Given the description of an element on the screen output the (x, y) to click on. 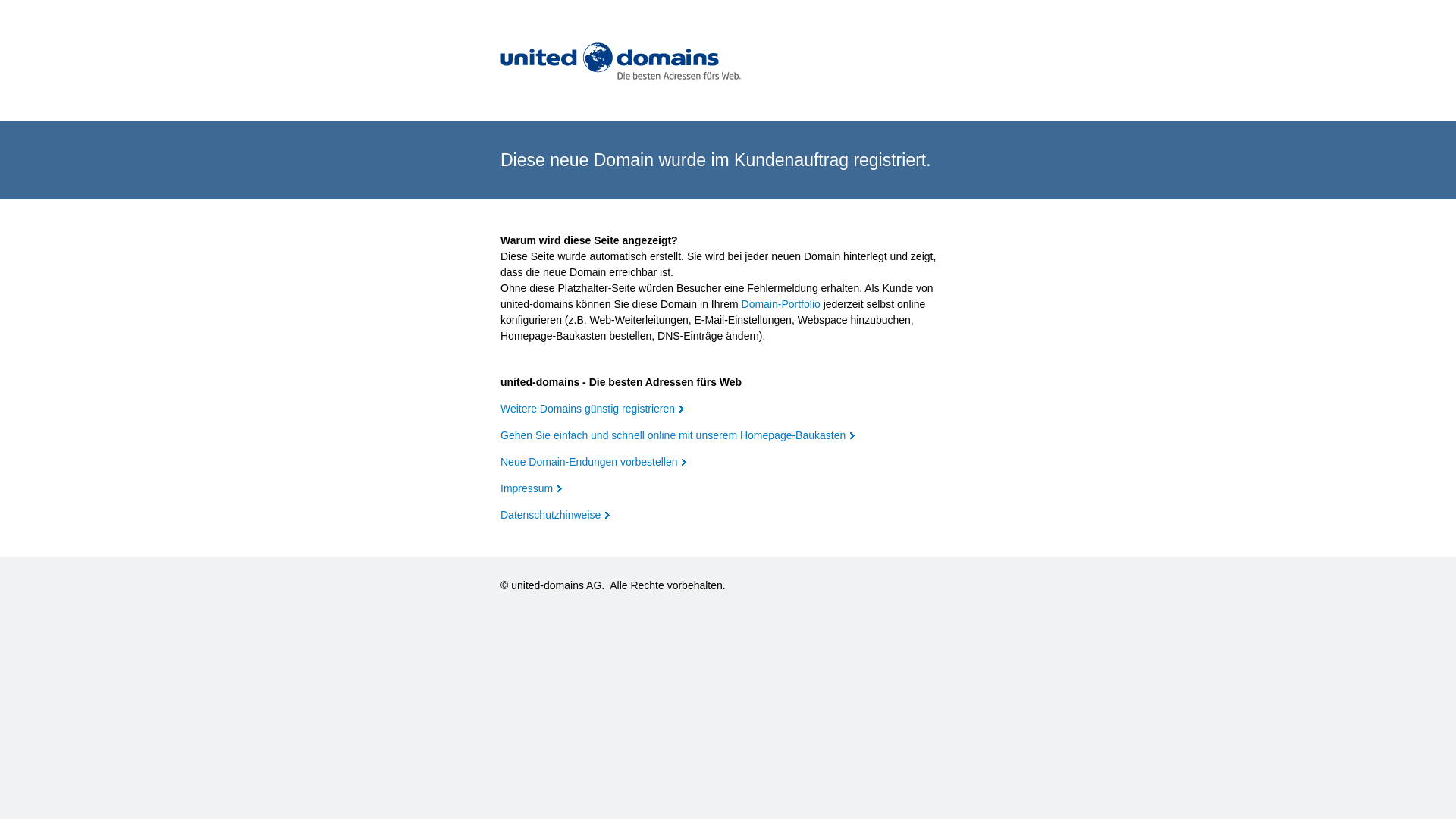
Neue Domain-Endungen vorbestellen Element type: text (593, 461)
Domain-Portfolio Element type: text (780, 304)
Datenschutzhinweise Element type: text (554, 514)
Impressum Element type: text (530, 488)
